Given the description of an element on the screen output the (x, y) to click on. 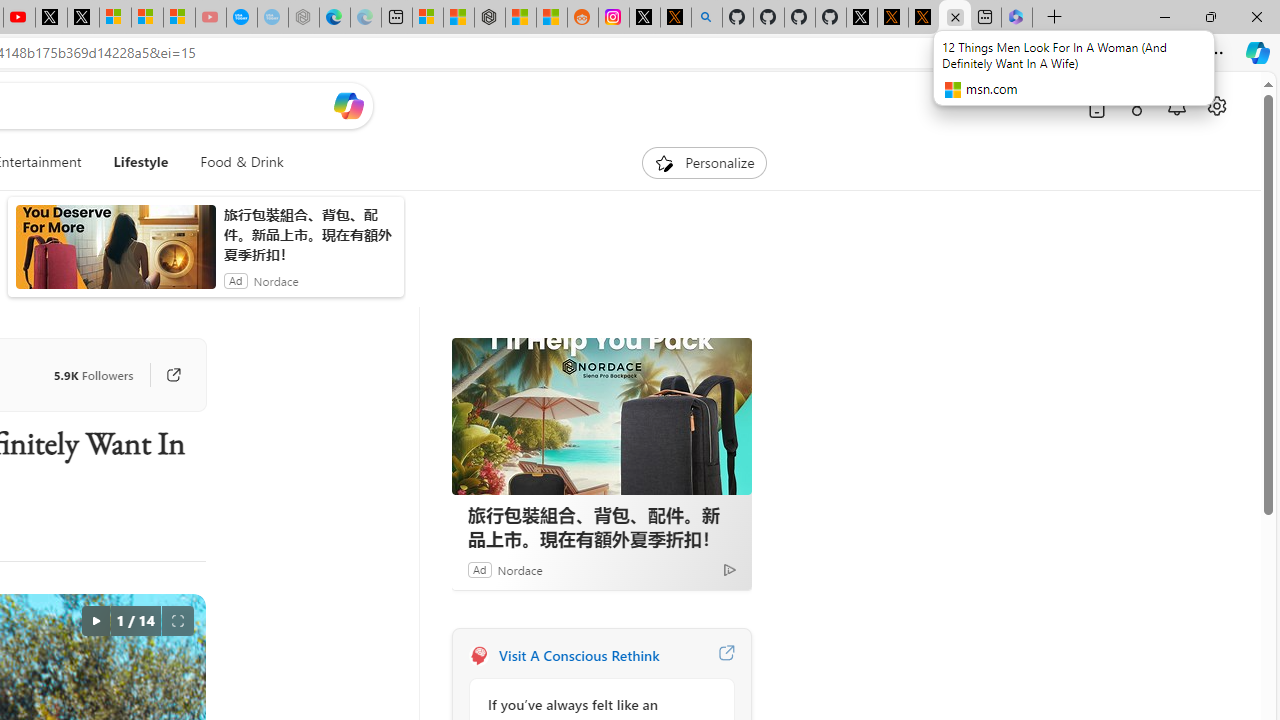
help.x.com | 524: A timeout occurred (675, 17)
Log in to X / X (644, 17)
